Given the description of an element on the screen output the (x, y) to click on. 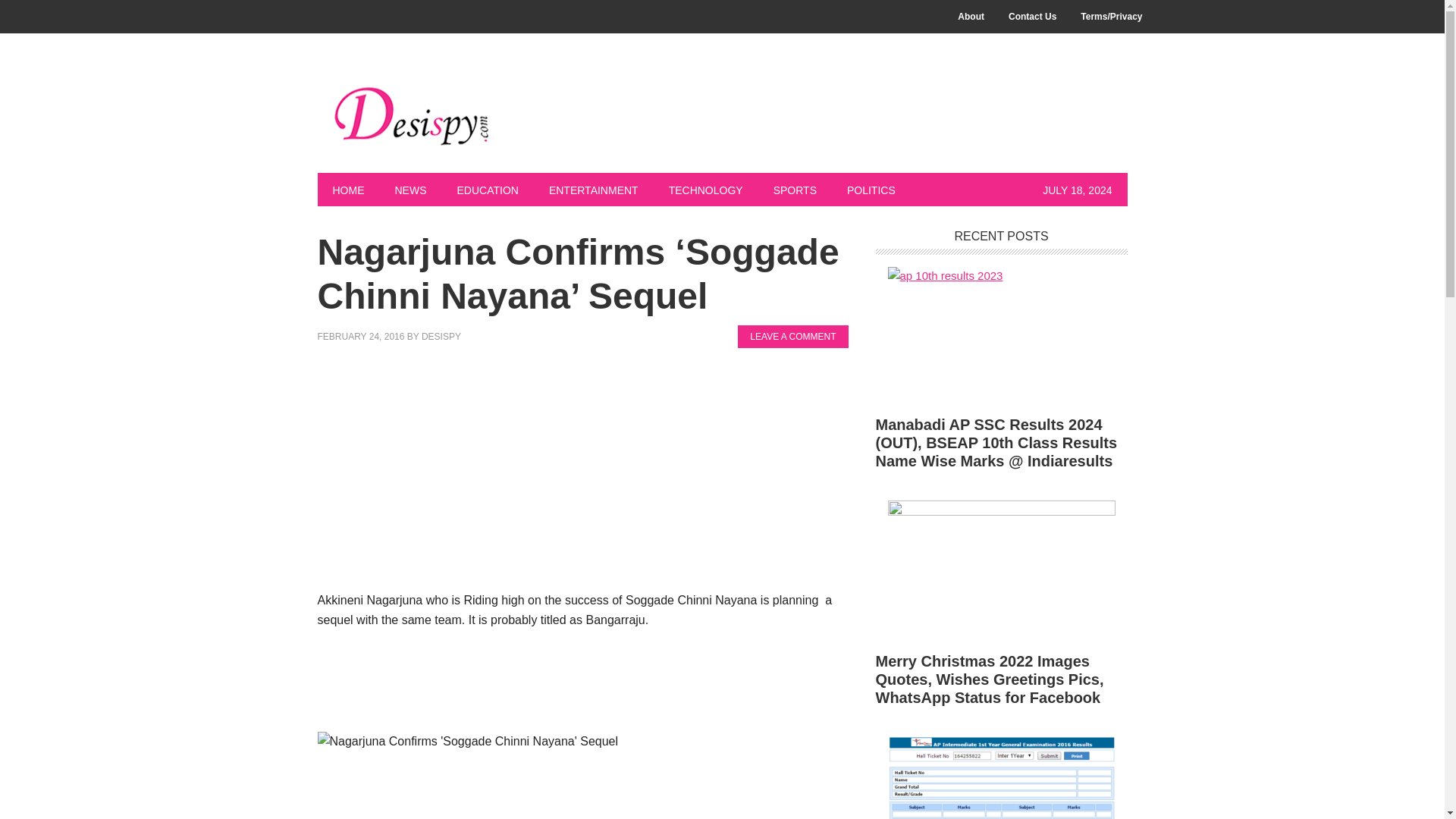
POLITICS (871, 189)
LEAVE A COMMENT (792, 336)
About (969, 16)
SPORTS (794, 189)
Advertisement (582, 477)
TECHNOLOGY (705, 189)
EDUCATION (486, 189)
NEWS (409, 189)
DESISPY (441, 336)
DESISPY.COM (419, 115)
HOME (347, 189)
Contact Us (1031, 16)
ENTERTAINMENT (593, 189)
Advertisement (582, 684)
